Given the description of an element on the screen output the (x, y) to click on. 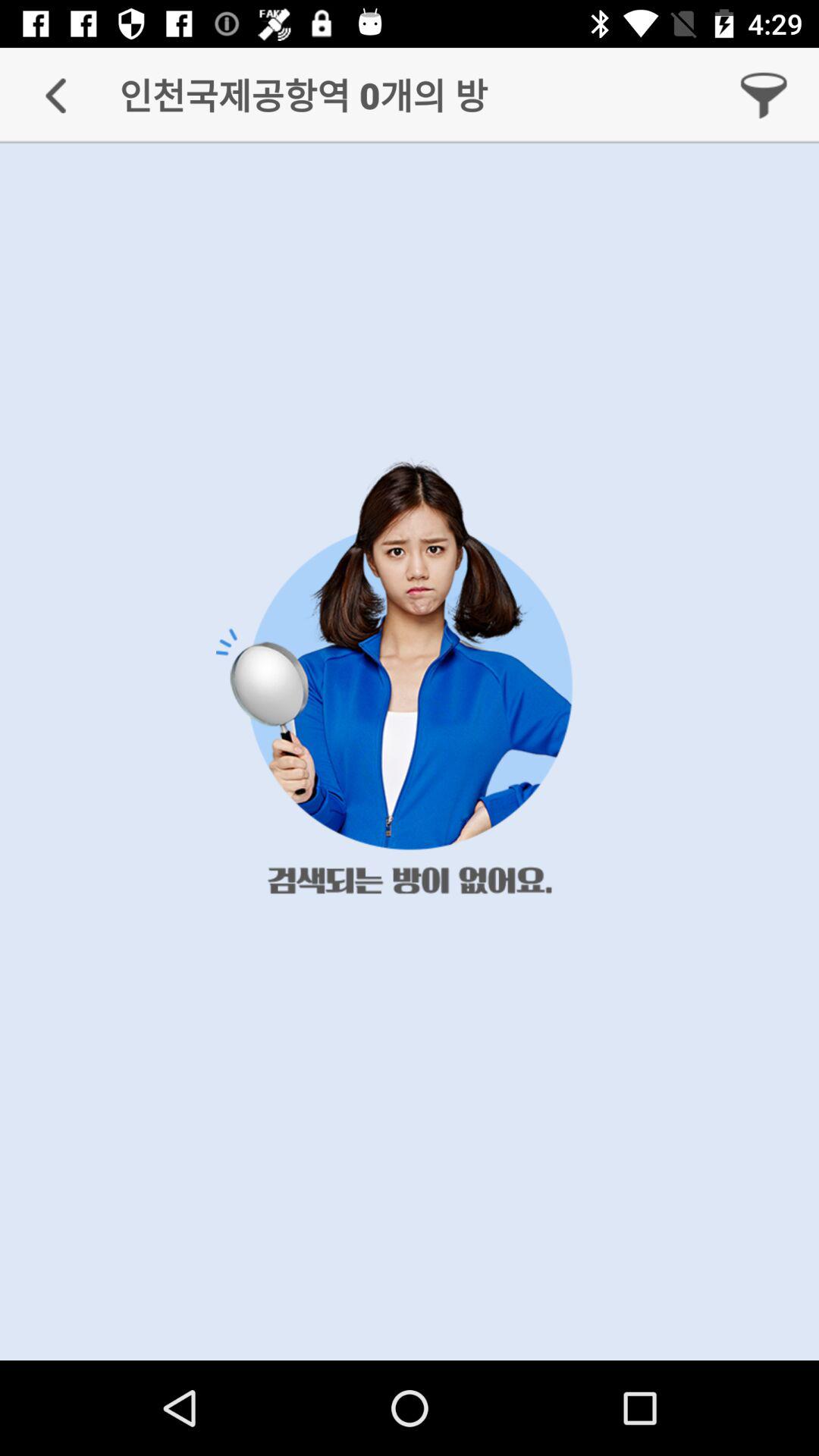
select item at the top left corner (55, 95)
